Given the description of an element on the screen output the (x, y) to click on. 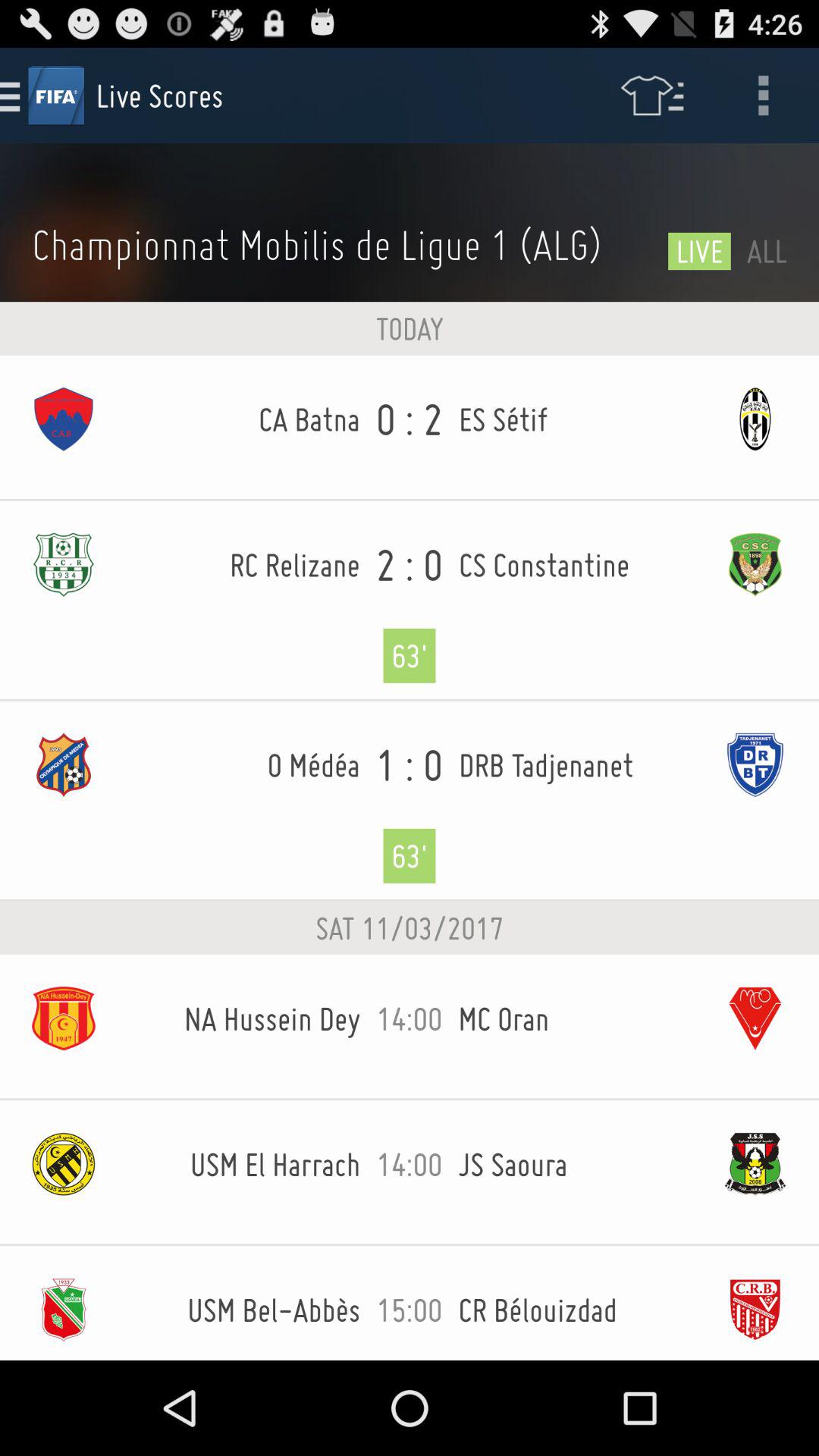
open the item to the right of 14:00 (574, 1018)
